Given the description of an element on the screen output the (x, y) to click on. 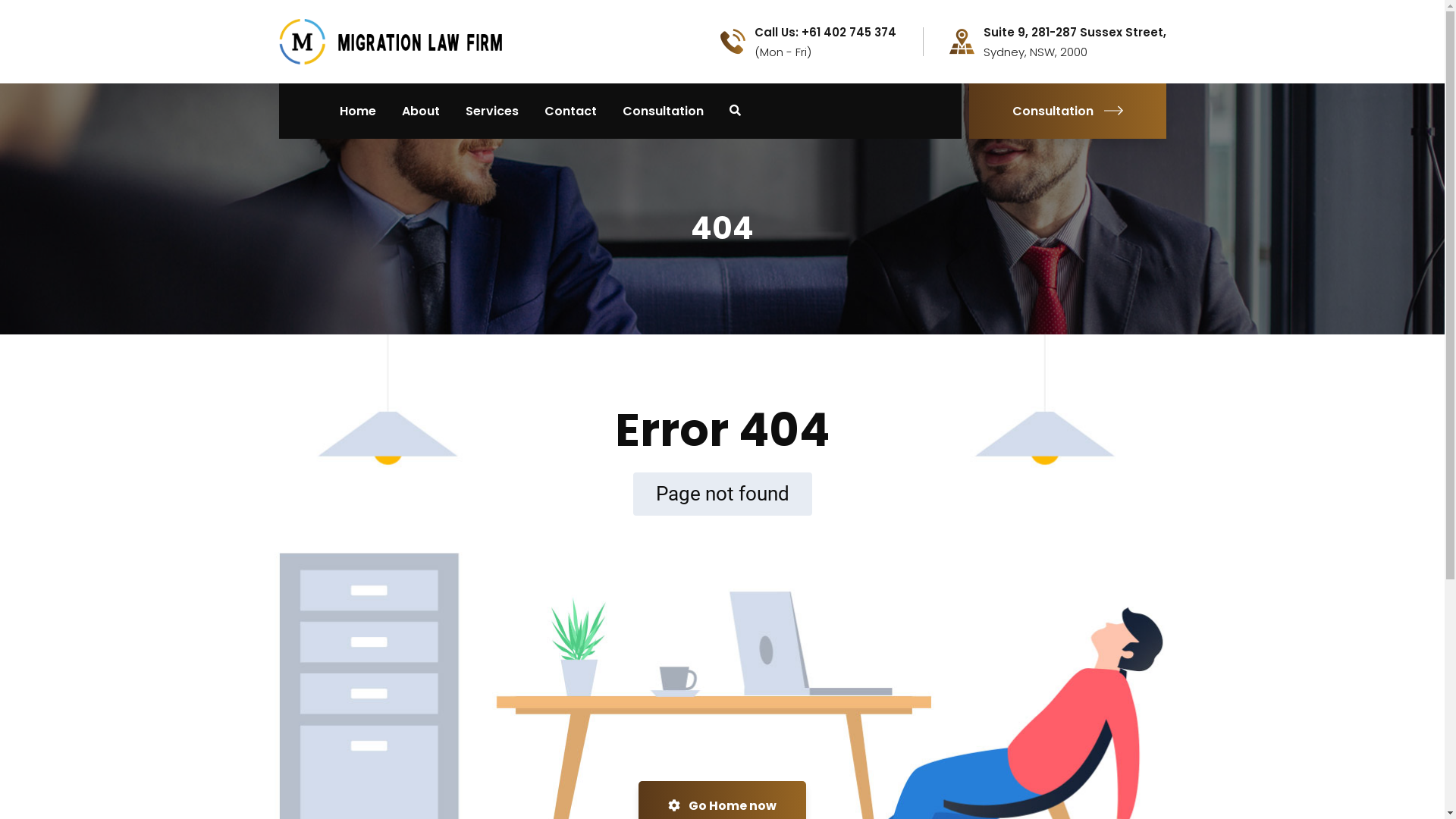
About Element type: text (420, 110)
Services Element type: text (491, 110)
Infuse IT Element type: text (819, 772)
Home Element type: text (357, 110)
Consultation Element type: text (1067, 110)
+61 402 745 374 Element type: text (619, 750)
ashish@migrationlawfirm.com.au Element type: text (820, 750)
Contact Element type: text (570, 110)
Consultation Element type: text (661, 110)
Migration Law Firm Element type: hover (392, 40)
